Given the description of an element on the screen output the (x, y) to click on. 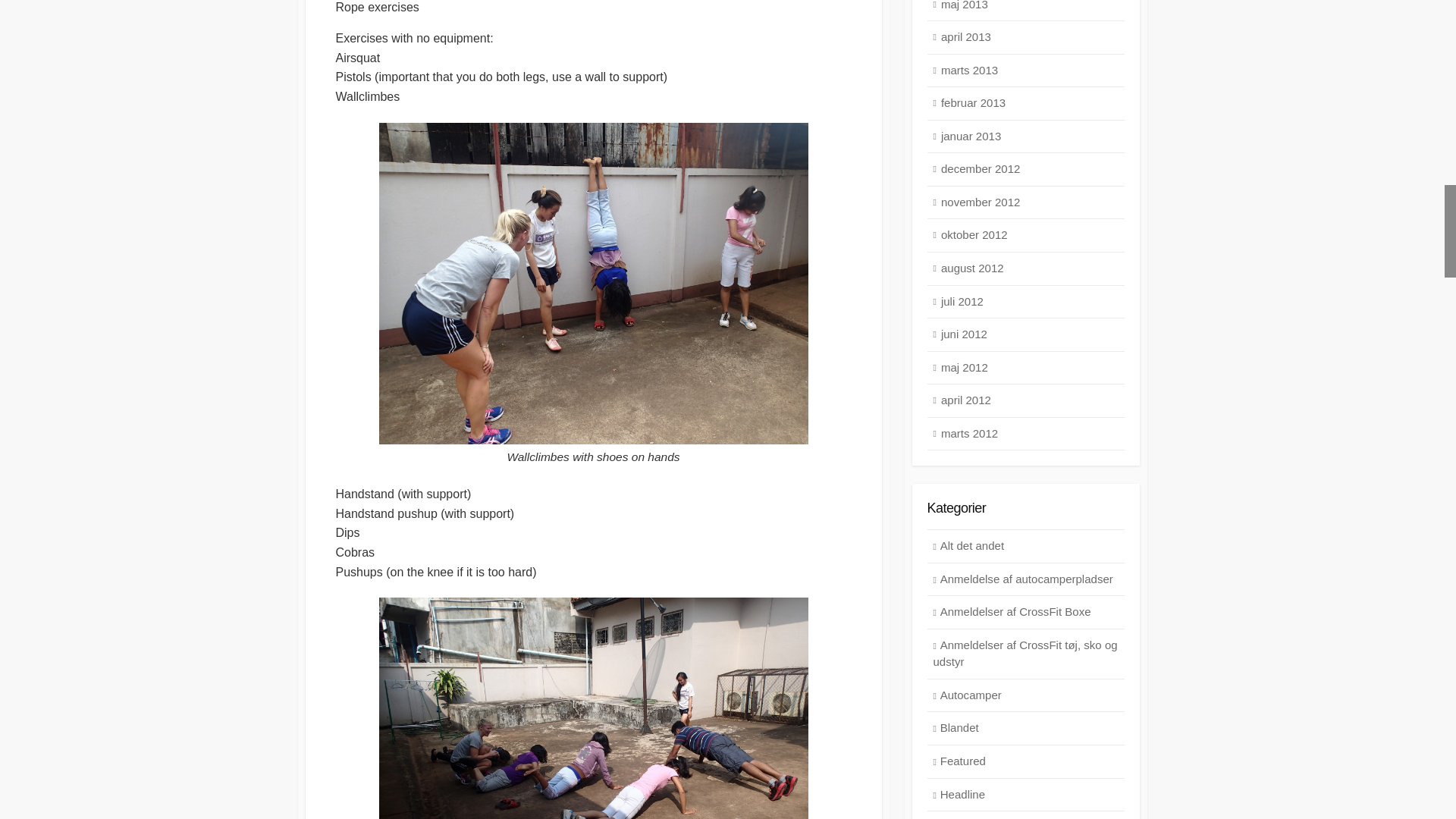
Pushup (593, 708)
